Given the description of an element on the screen output the (x, y) to click on. 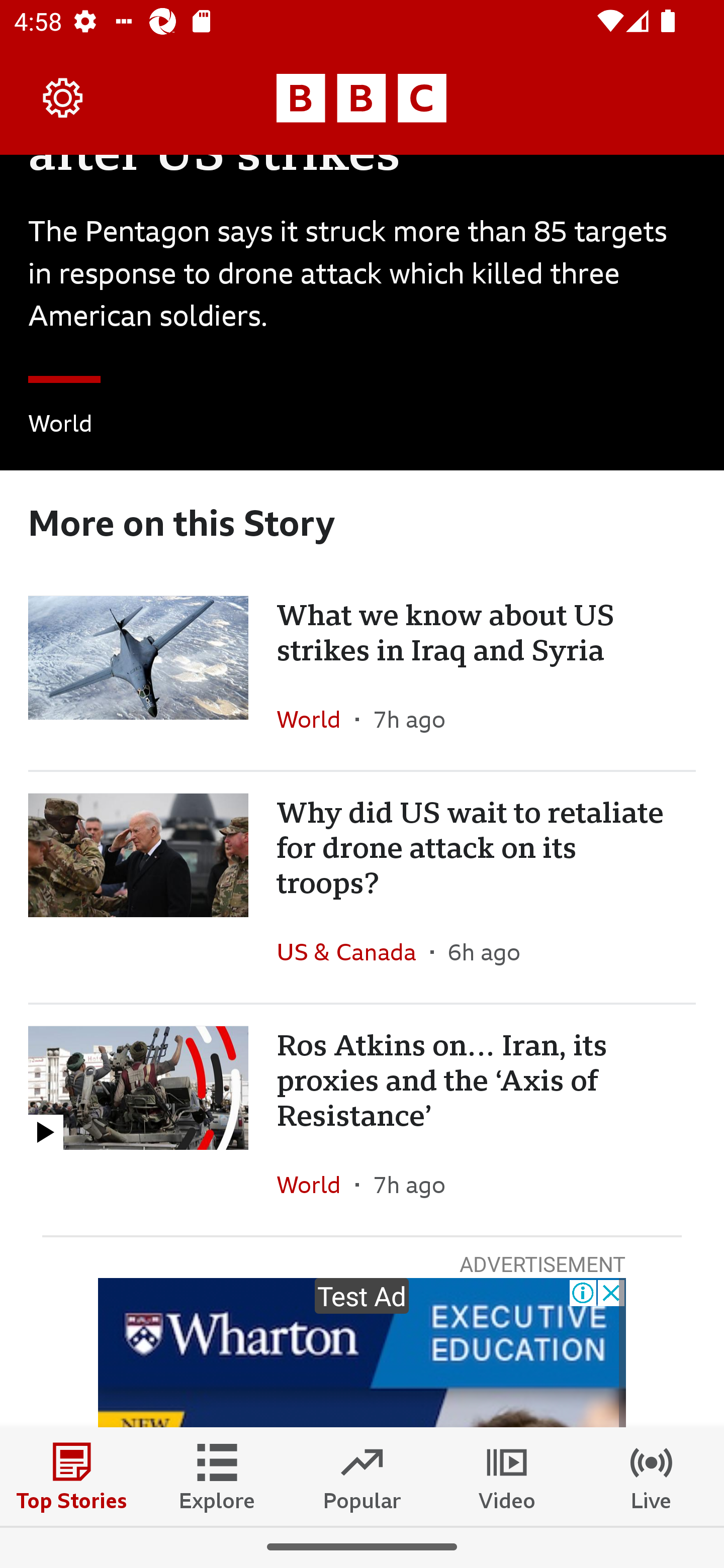
Settings (63, 97)
World In the section World (60, 426)
World In the section World (315, 718)
US & Canada In the section US & Canada (353, 951)
World In the section World (315, 1184)
Explore (216, 1475)
Popular (361, 1475)
Video (506, 1475)
Live (651, 1475)
